Given the description of an element on the screen output the (x, y) to click on. 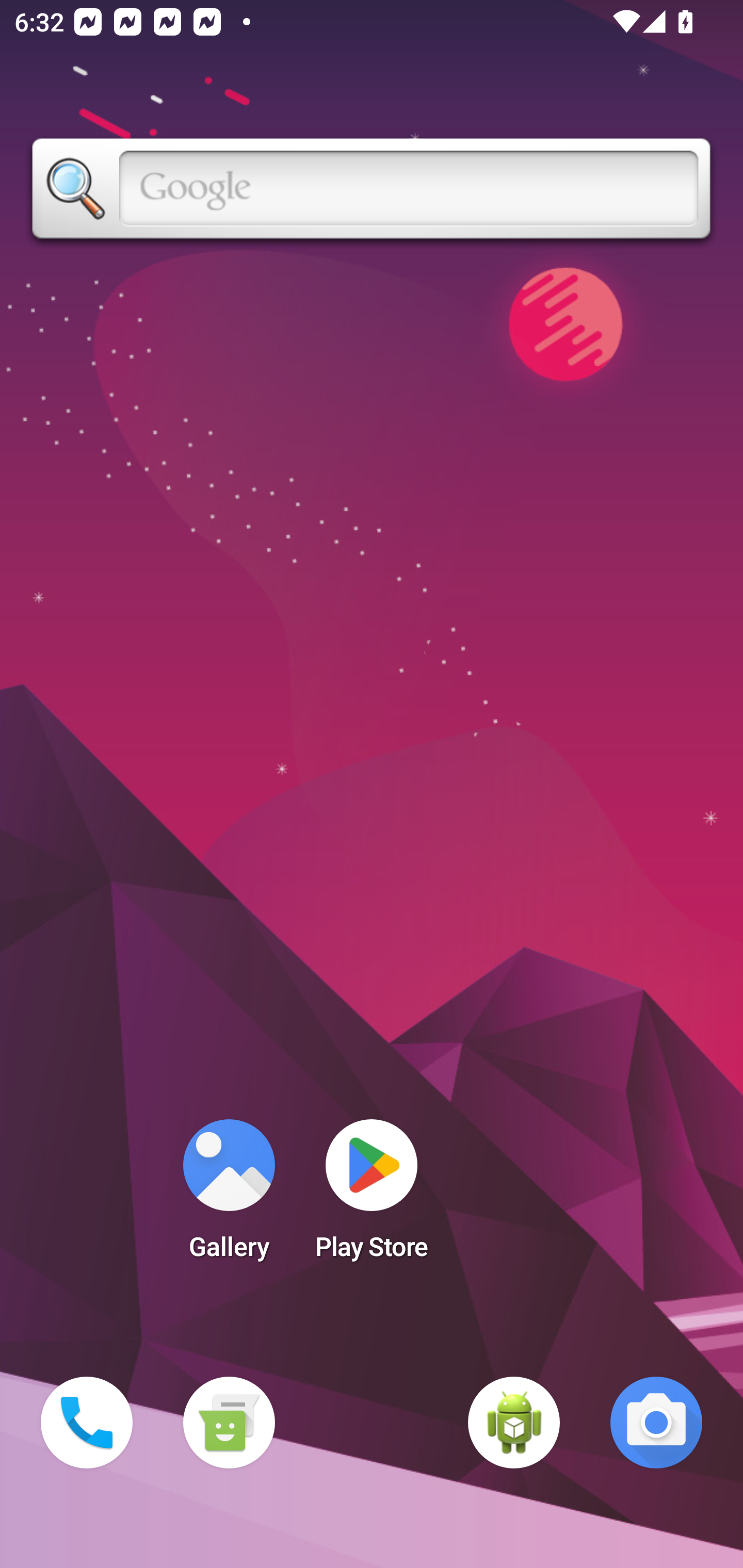
Gallery (228, 1195)
Play Store (371, 1195)
Phone (86, 1422)
Messaging (228, 1422)
WebView Browser Tester (513, 1422)
Camera (656, 1422)
